Given the description of an element on the screen output the (x, y) to click on. 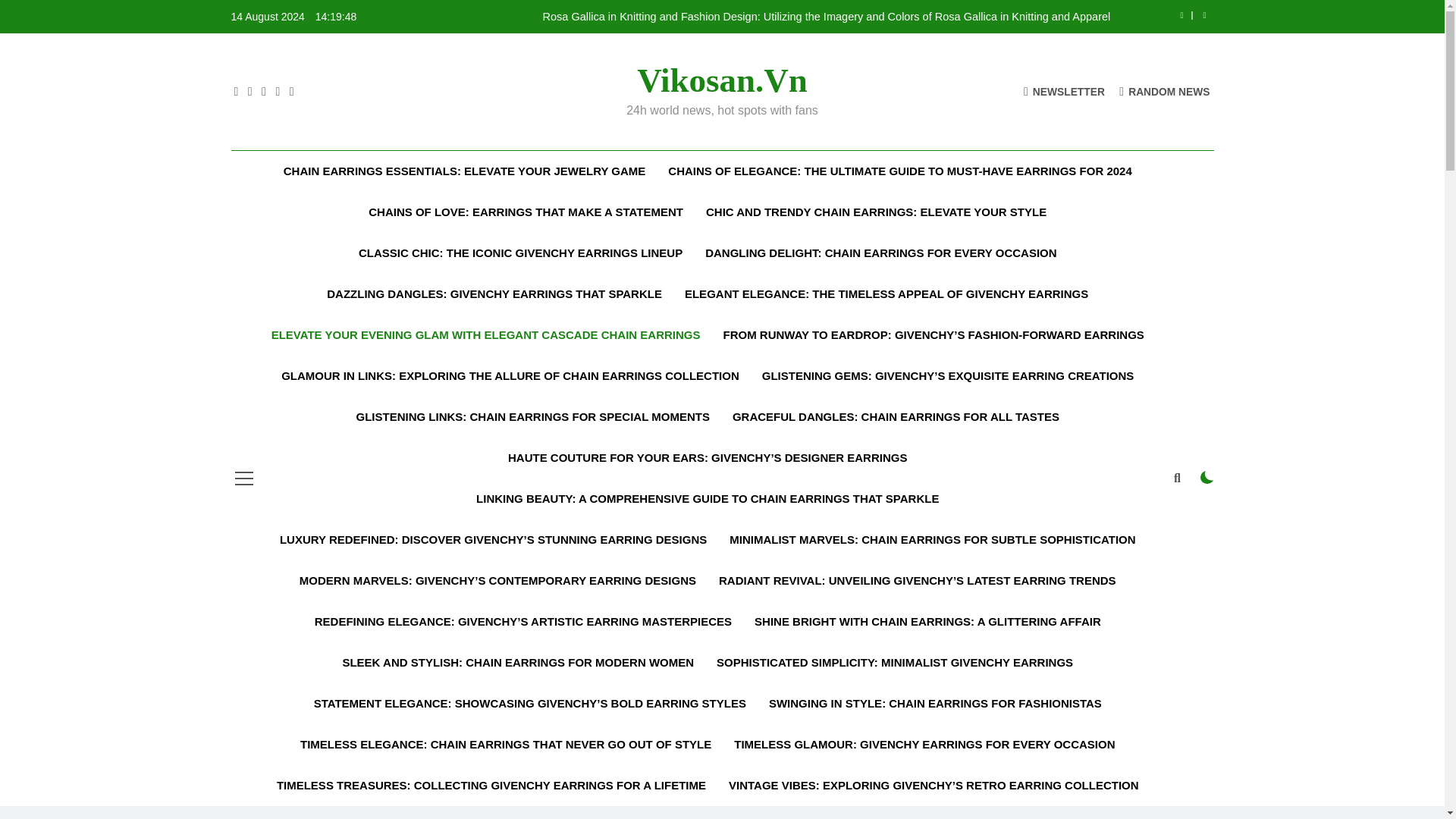
CHAIN EARRINGS ESSENTIALS: ELEVATE YOUR JEWELRY GAME (465, 170)
GLISTENING LINKS: CHAIN EARRINGS FOR SPECIAL MOMENTS (531, 416)
CHAINS OF LOVE: EARRINGS THAT MAKE A STATEMENT (525, 211)
CHIC AND TRENDY CHAIN EARRINGS: ELEVATE YOUR STYLE (876, 211)
DANGLING DELIGHT: CHAIN EARRINGS FOR EVERY OCCASION (880, 252)
on (1206, 477)
GRACEFUL DANGLES: CHAIN EARRINGS FOR ALL TASTES (895, 416)
